Given the description of an element on the screen output the (x, y) to click on. 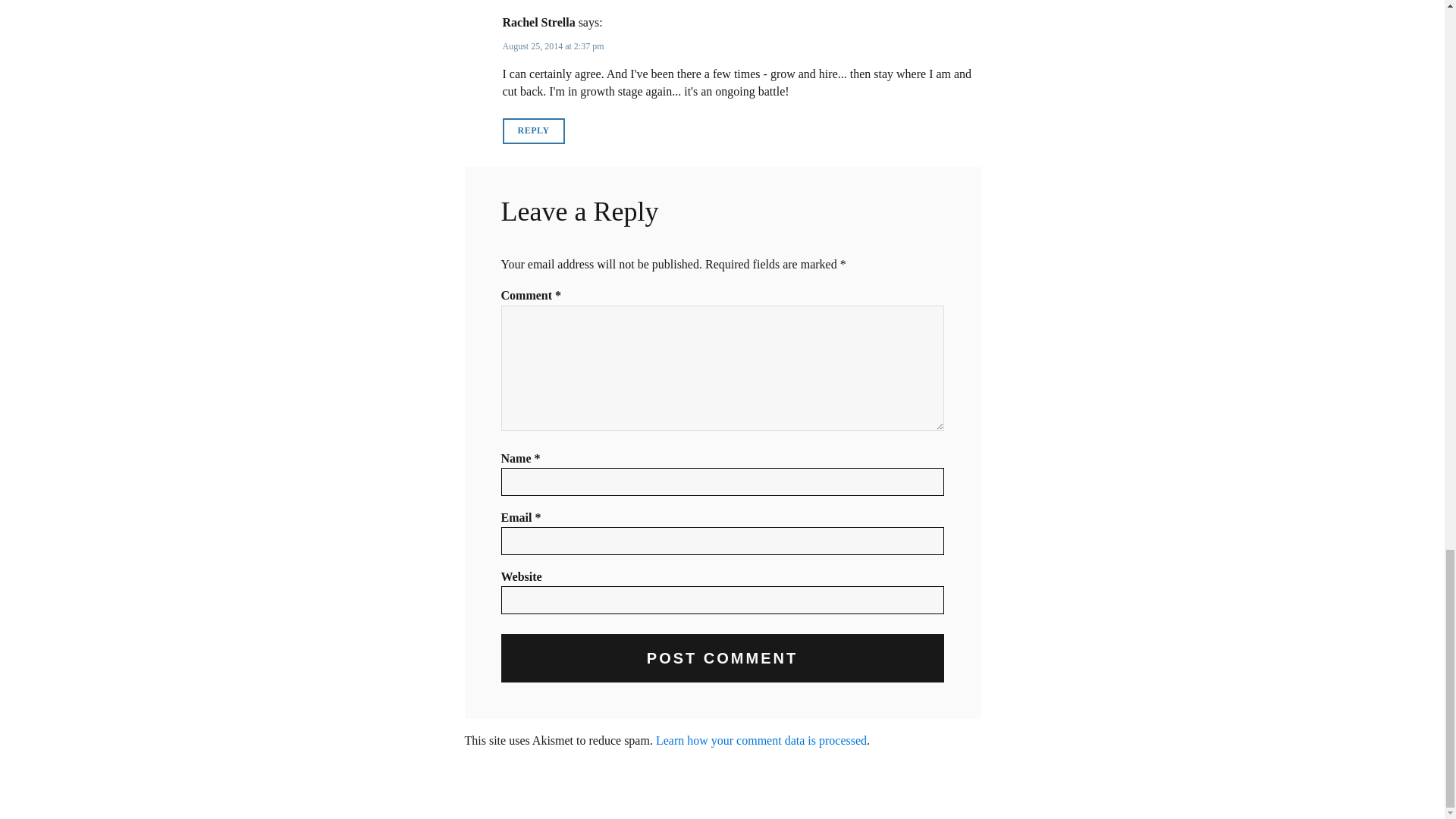
August 25, 2014 at 2:37 pm (553, 45)
Post Comment (721, 657)
REPLY (533, 130)
Post Comment (721, 657)
Learn how your comment data is processed (761, 739)
